Given the description of an element on the screen output the (x, y) to click on. 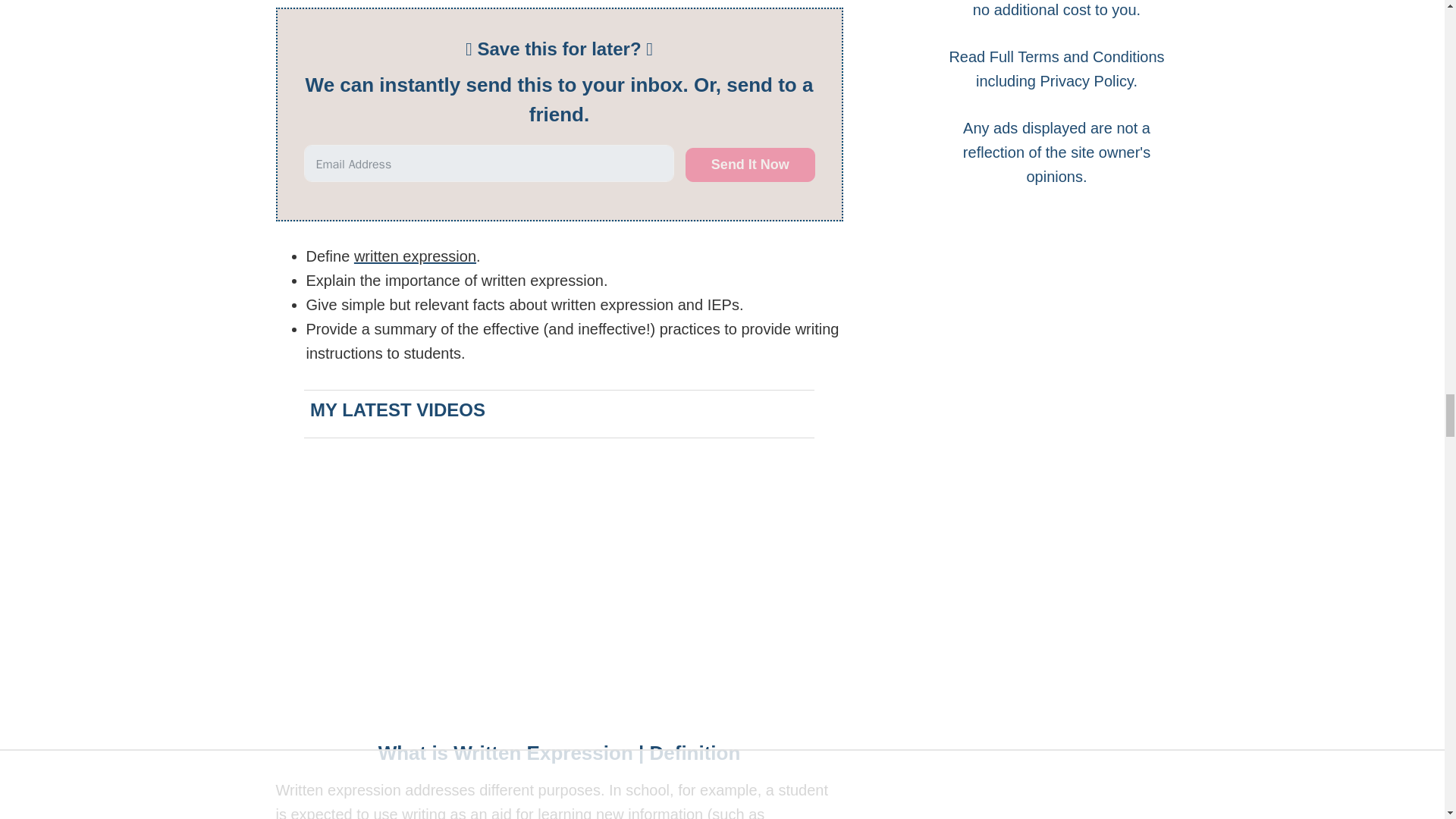
Send It Now (749, 164)
written expression (414, 256)
